Given the description of an element on the screen output the (x, y) to click on. 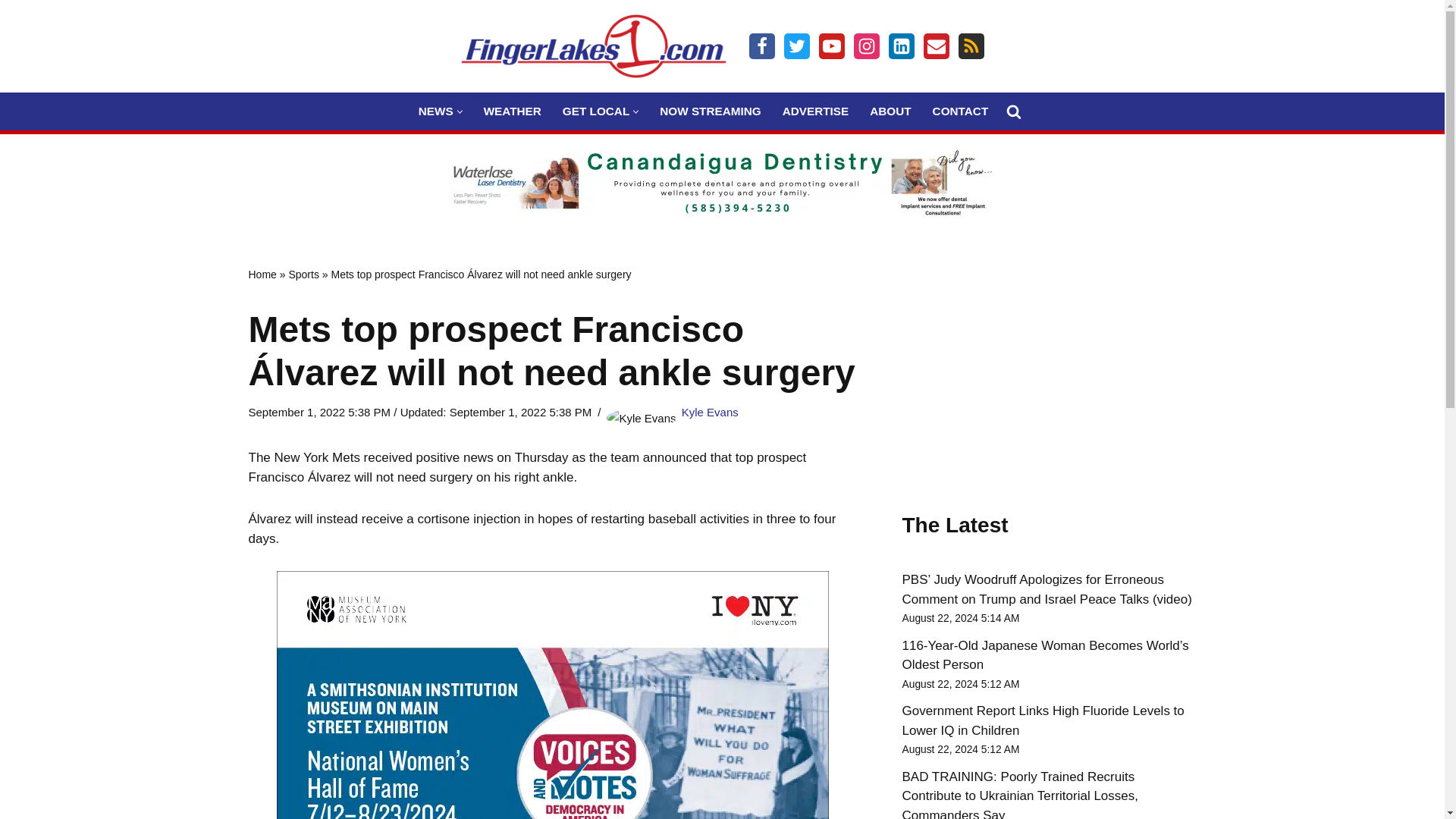
NEWS (435, 111)
GET LOCAL (595, 111)
NOW STREAMING (709, 111)
ADVERTISE (815, 111)
Facebook (761, 45)
CONTACT (960, 111)
ABOUT (890, 111)
LinkIn (901, 45)
Feed (971, 45)
Instagram (866, 45)
